Given the description of an element on the screen output the (x, y) to click on. 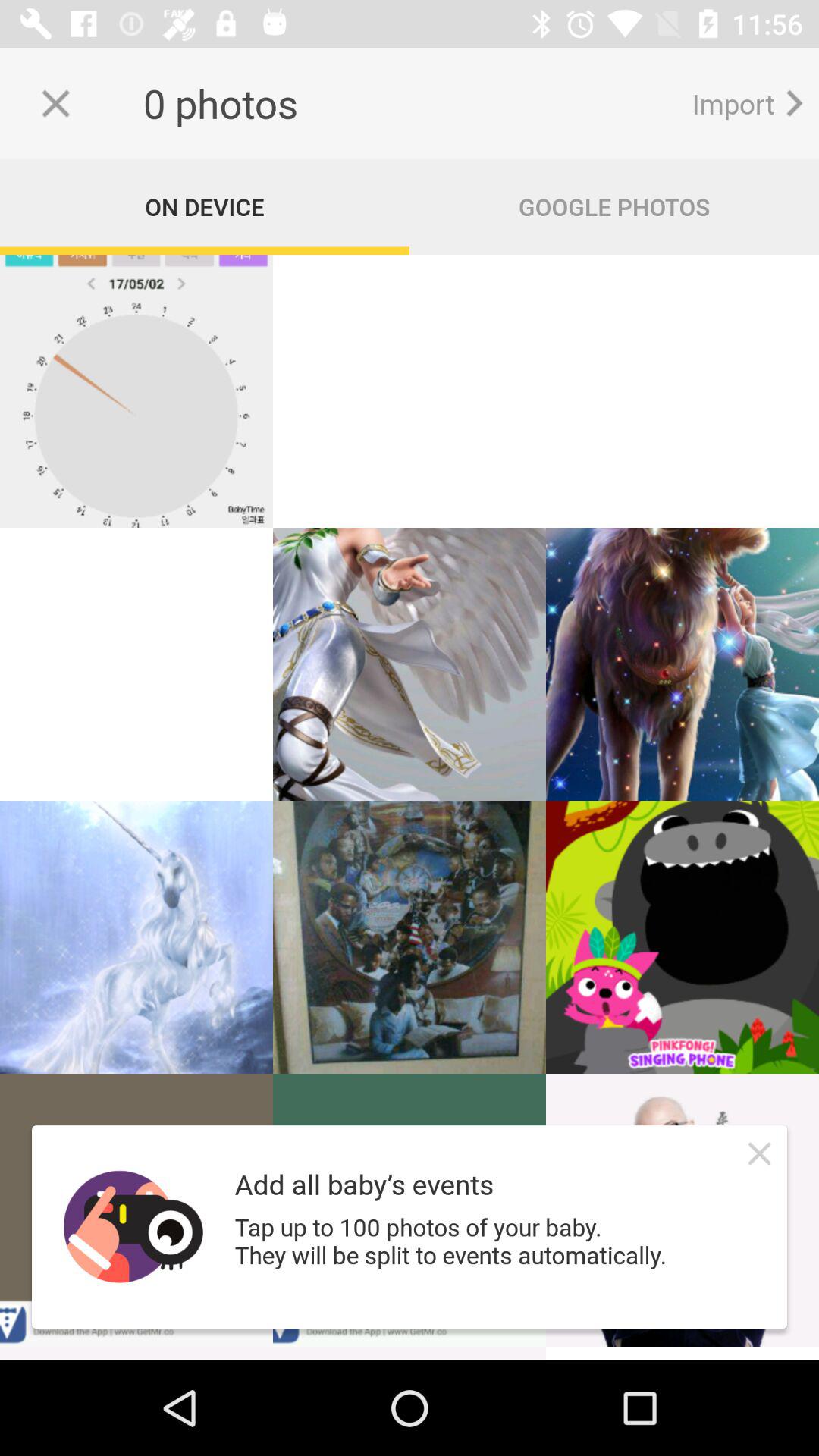
select the close icon (759, 1153)
select the image in the second row (409, 664)
click on the second image under on device field (409, 391)
select the icon which is just to the left of add all babys events (133, 1227)
